Given the description of an element on the screen output the (x, y) to click on. 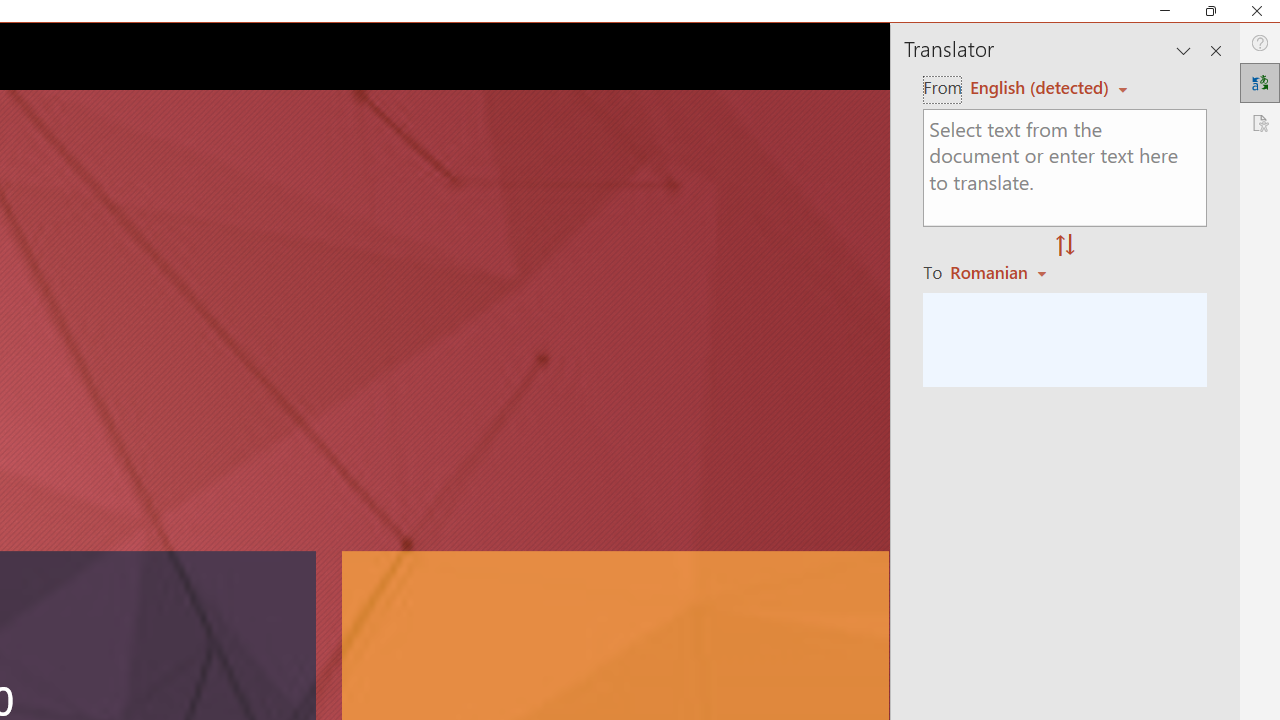
Romanian (1001, 272)
Czech (detected) (1039, 87)
